Given the description of an element on the screen output the (x, y) to click on. 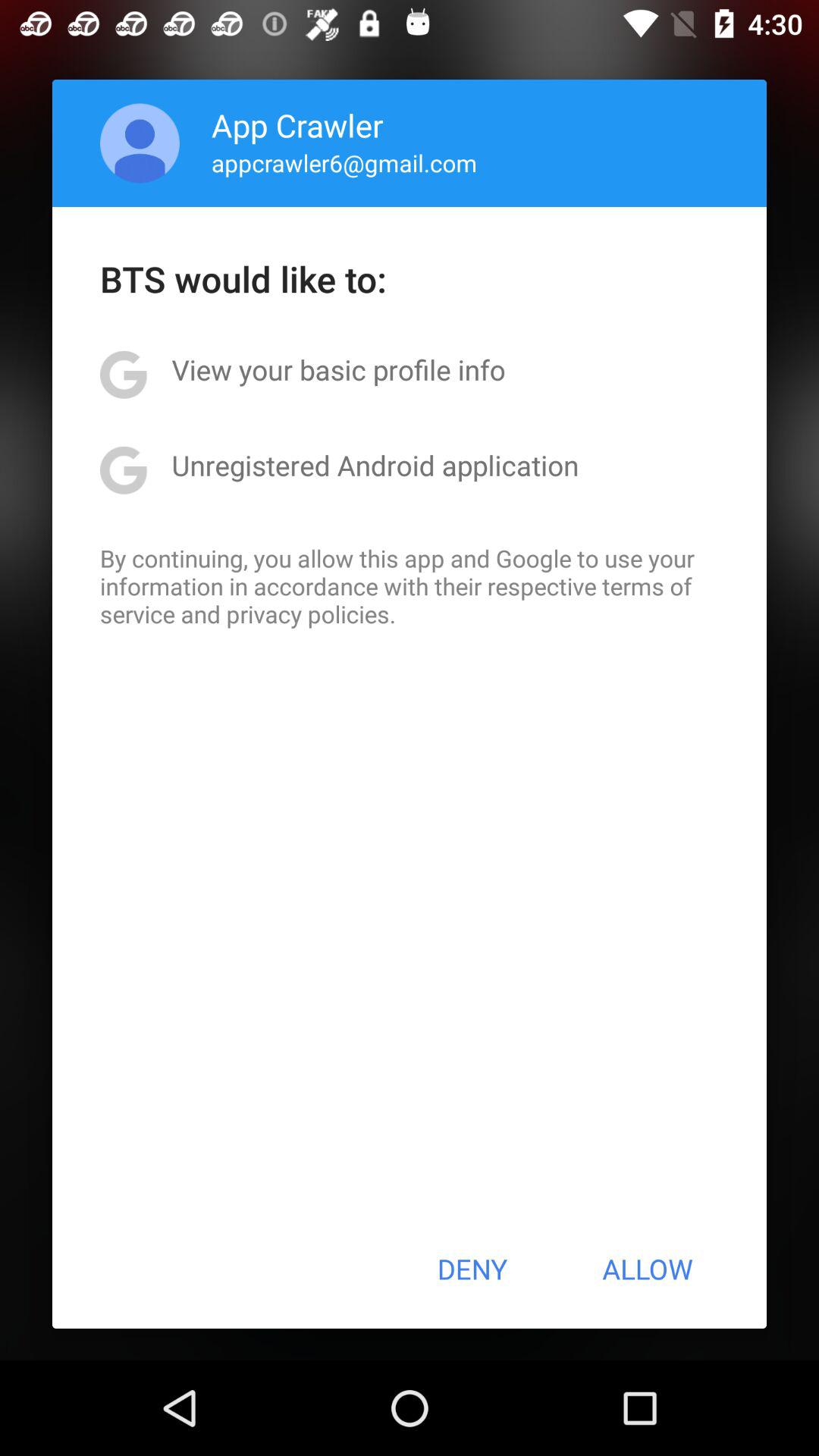
flip until the deny item (471, 1268)
